Given the description of an element on the screen output the (x, y) to click on. 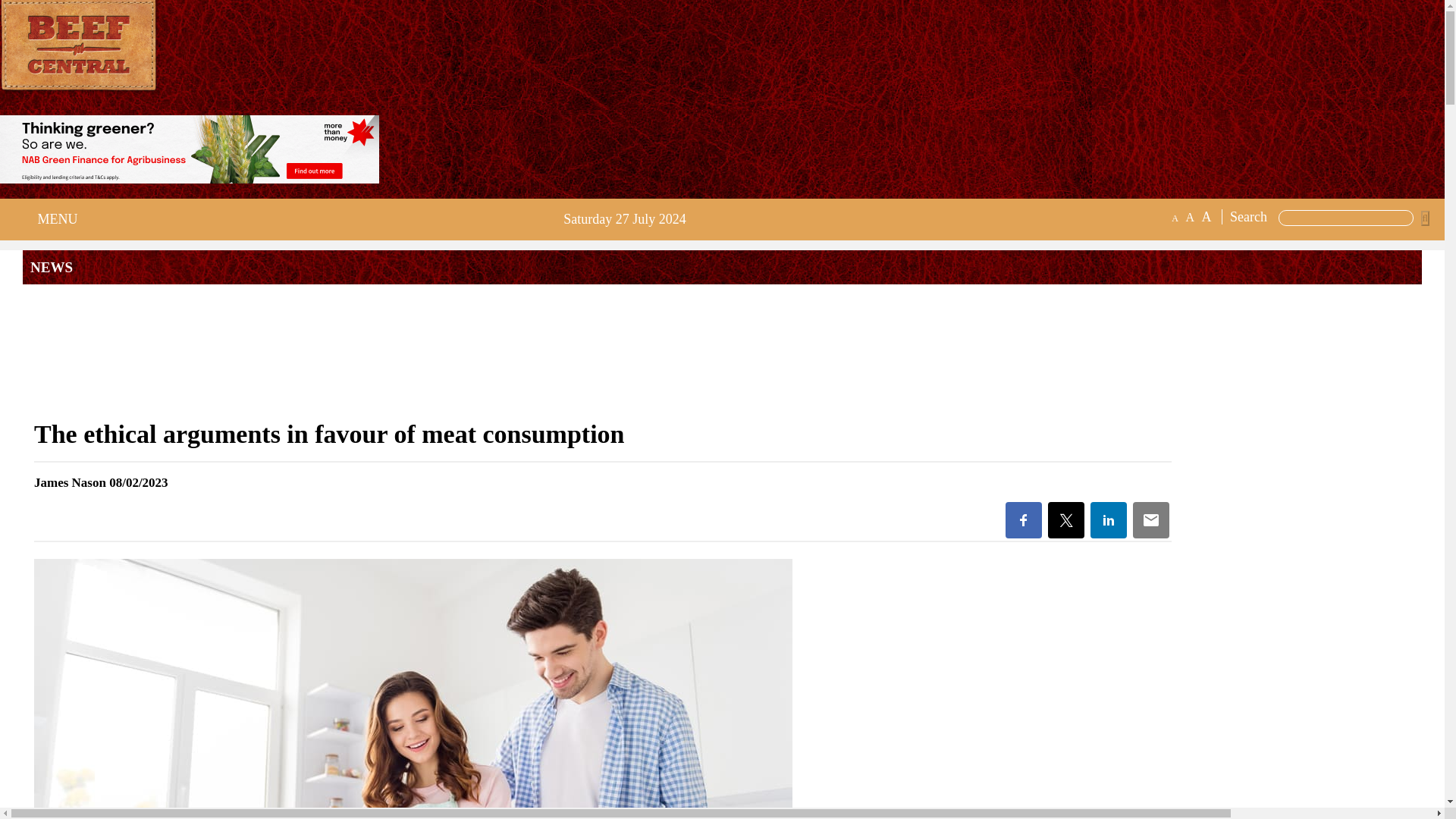
3rd party ad content (189, 149)
MENU (53, 219)
3rd party ad content (721, 350)
